Given the description of an element on the screen output the (x, y) to click on. 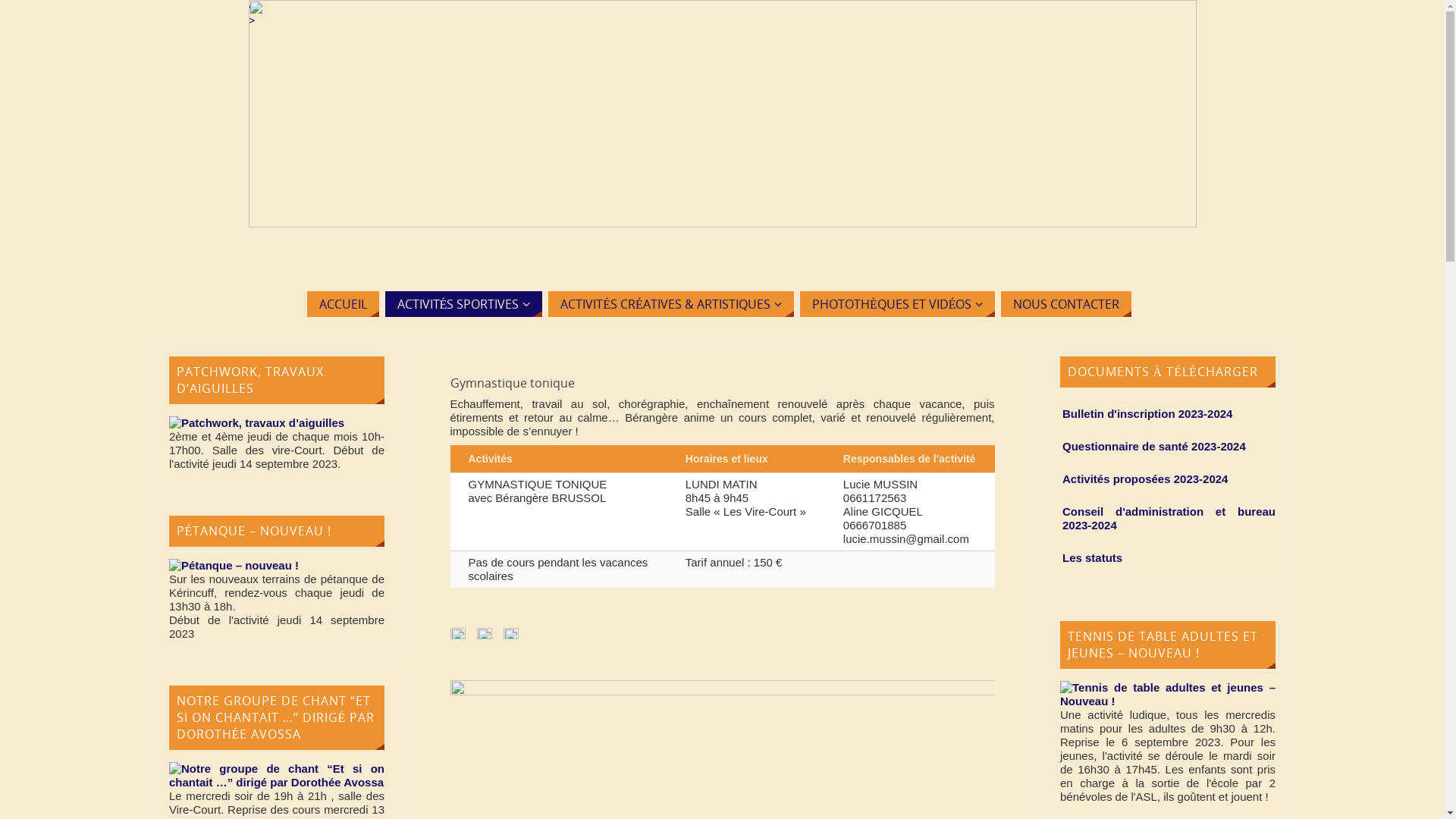
Bulletin d'inscription 2023-2024 Element type: text (1147, 413)
< Element type: text (251, 6)
> Element type: text (251, 19)
NOUS CONTACTER Element type: text (1066, 303)
Conseil d'administration et bureau 2023-2024 Element type: text (1168, 518)
ACCUEIL Element type: text (343, 303)
Les statuts Element type: text (1092, 557)
